Given the description of an element on the screen output the (x, y) to click on. 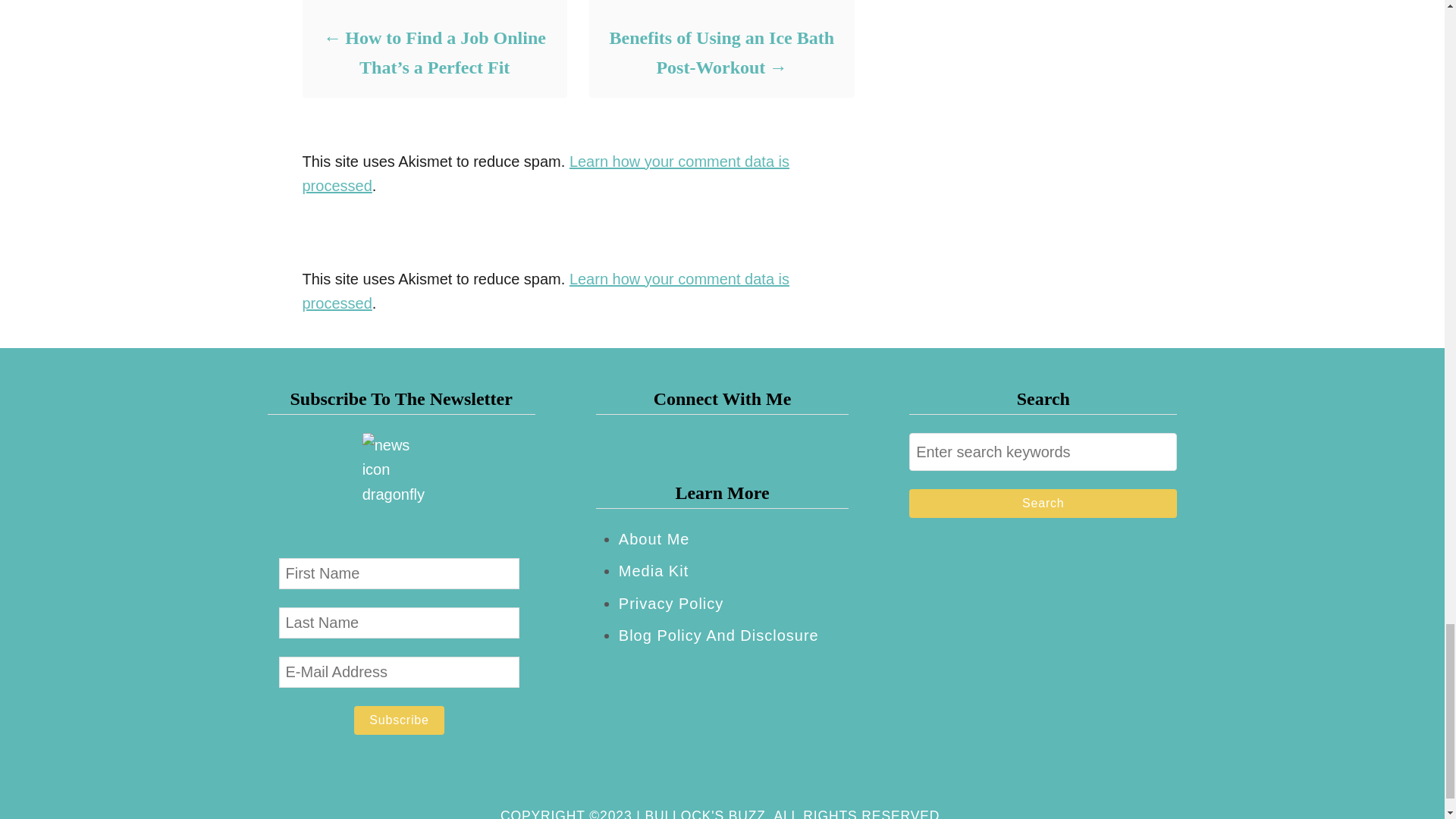
Search for: (1042, 452)
Subscribe (398, 719)
Search (1042, 502)
Search (1042, 502)
